Given the description of an element on the screen output the (x, y) to click on. 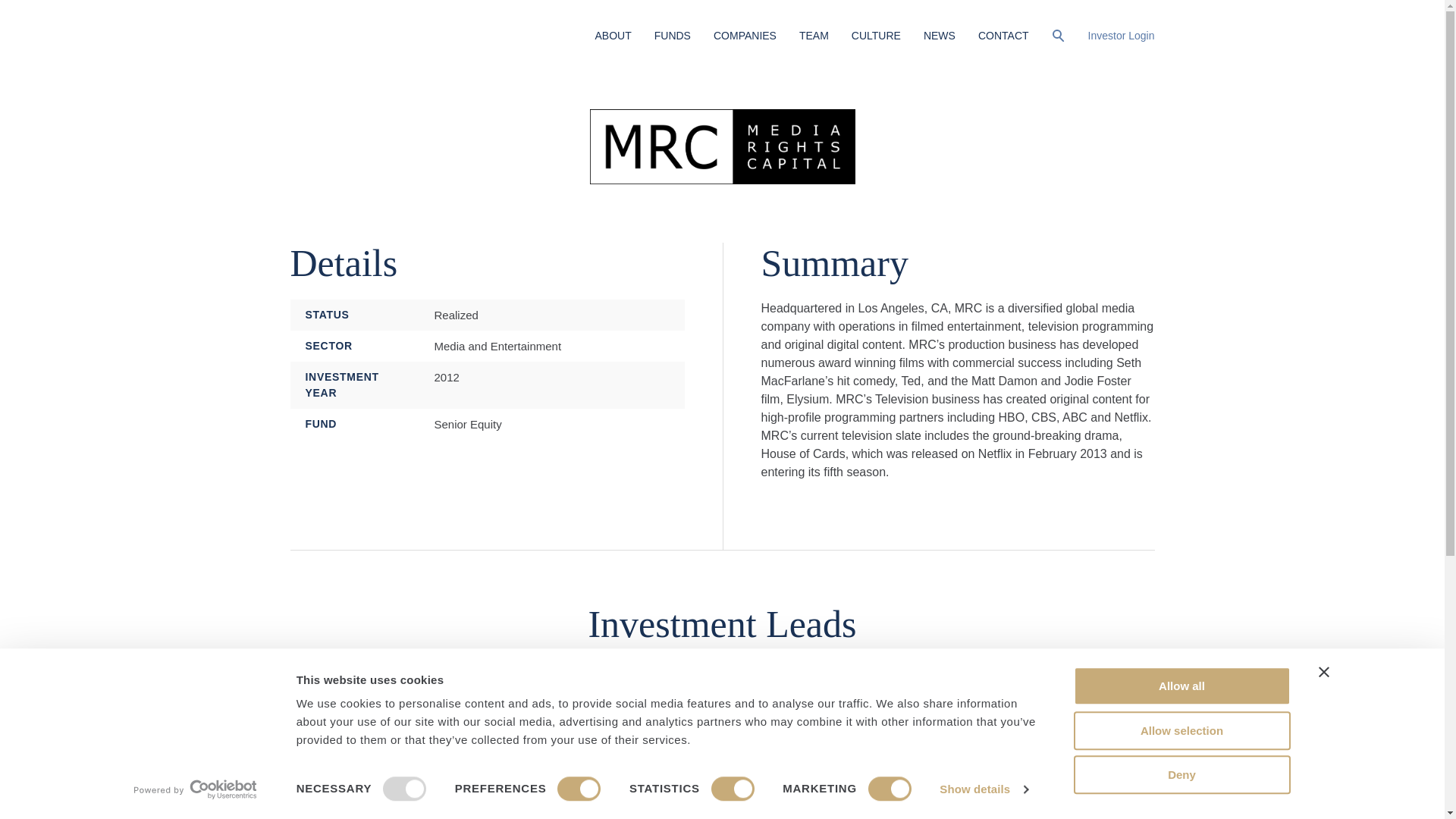
Allow selection (1182, 730)
Allow all (1182, 685)
Show details (983, 789)
Deny (1182, 774)
